Given the description of an element on the screen output the (x, y) to click on. 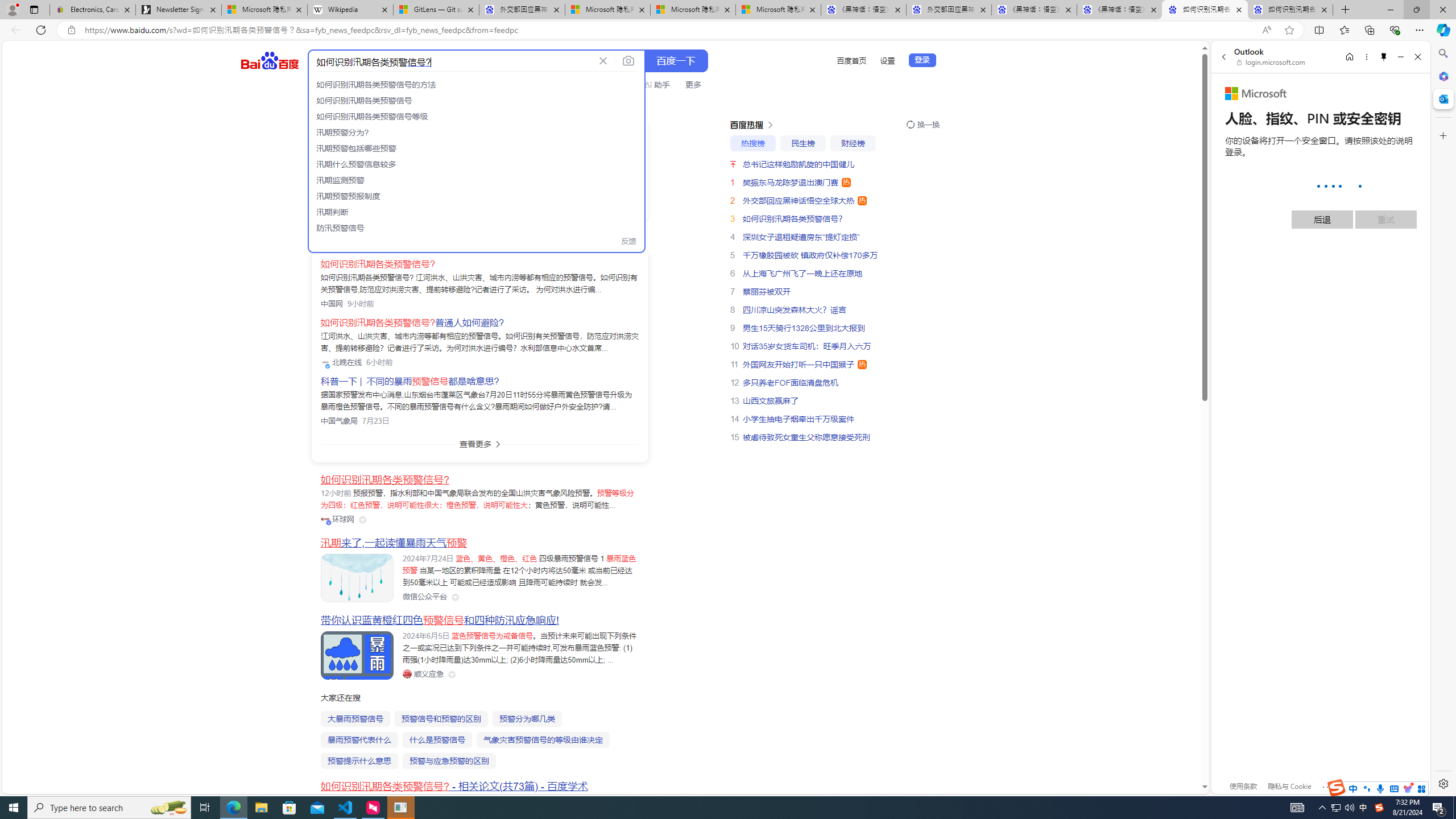
AutomationID: kw (451, 61)
